Given the description of an element on the screen output the (x, y) to click on. 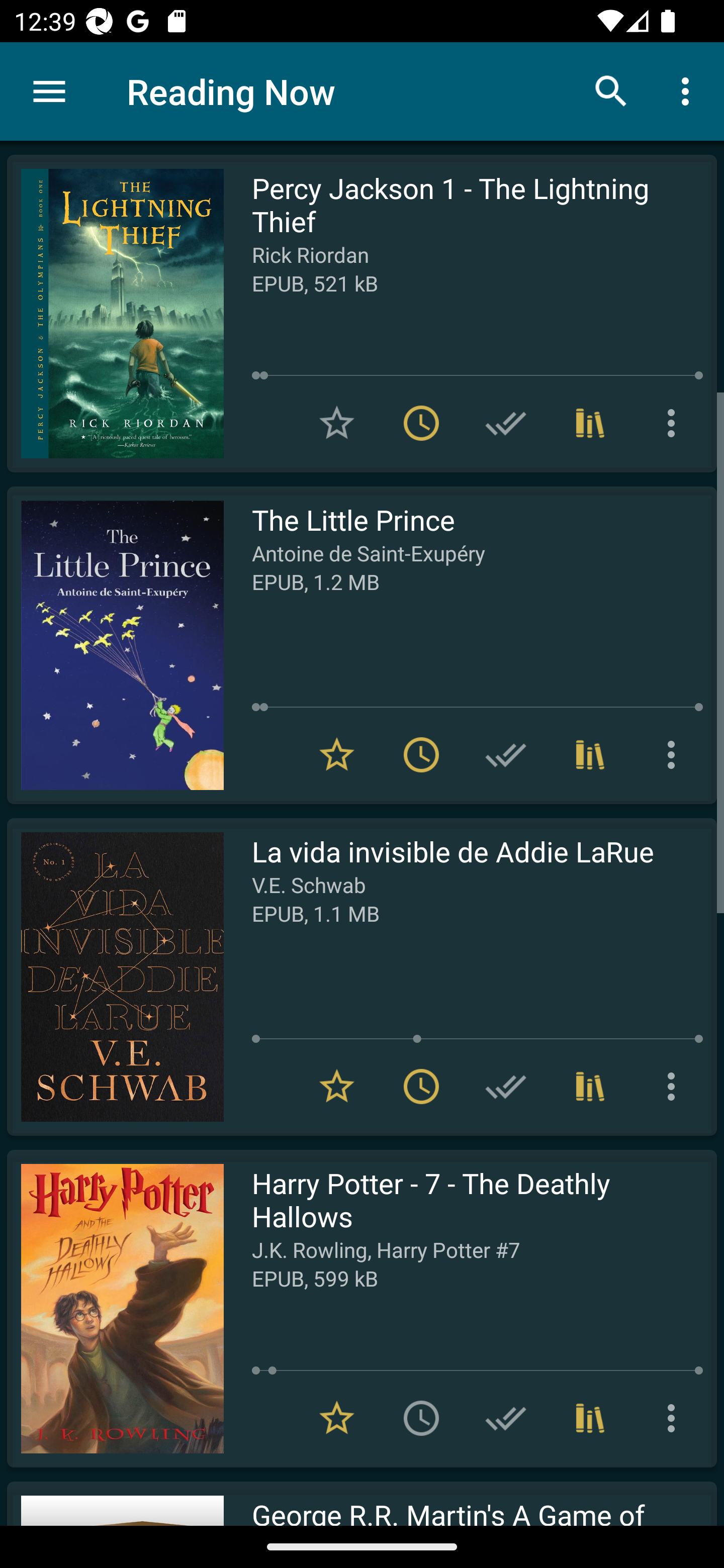
Menu (49, 91)
Search books & documents (611, 90)
More options (688, 90)
Read Percy Jackson 1 - The Lightning Thief (115, 313)
Add to Favorites (336, 423)
Remove from To read (421, 423)
Add to Have read (505, 423)
Collections (1) (590, 423)
More options (674, 423)
Read The Little Prince (115, 645)
Remove from Favorites (336, 753)
Remove from To read (421, 753)
Add to Have read (505, 753)
Collections (1) (590, 753)
More options (674, 753)
Read La vida invisible de Addie LaRue (115, 976)
Remove from Favorites (336, 1086)
